Given the description of an element on the screen output the (x, y) to click on. 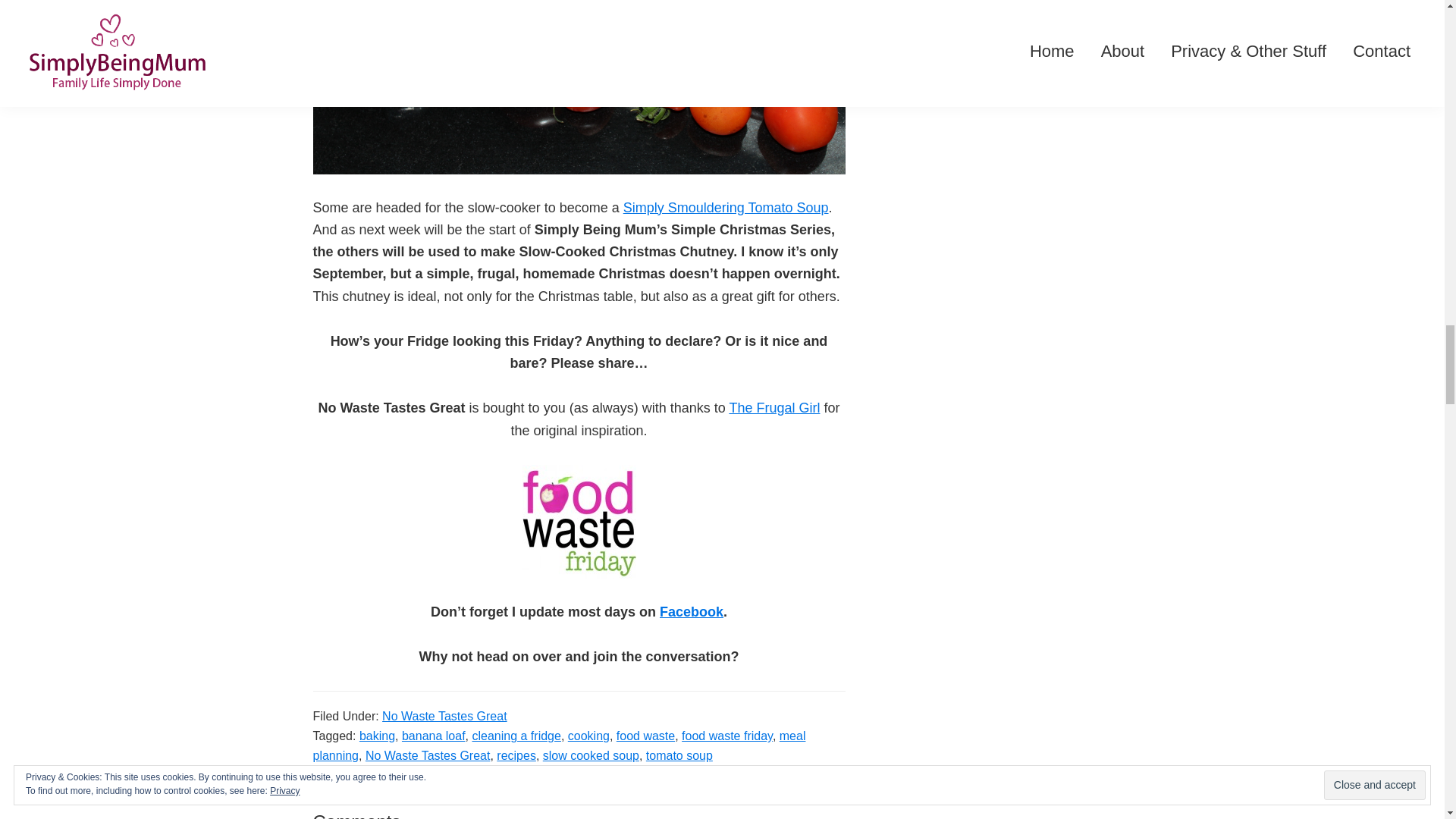
The Frugal Girl (774, 407)
cooking (588, 735)
tomato soup (679, 755)
food waste friday (727, 735)
recipes (515, 755)
baking (376, 735)
banana loaf (433, 735)
No Waste Tastes Great (443, 716)
Simply Smouldering Tomato Soup (725, 207)
cleaning a fridge (515, 735)
No Waste Tastes Great (427, 755)
meal planning (559, 745)
food waste (645, 735)
Facebook (691, 611)
slow cooked soup (591, 755)
